Given the description of an element on the screen output the (x, y) to click on. 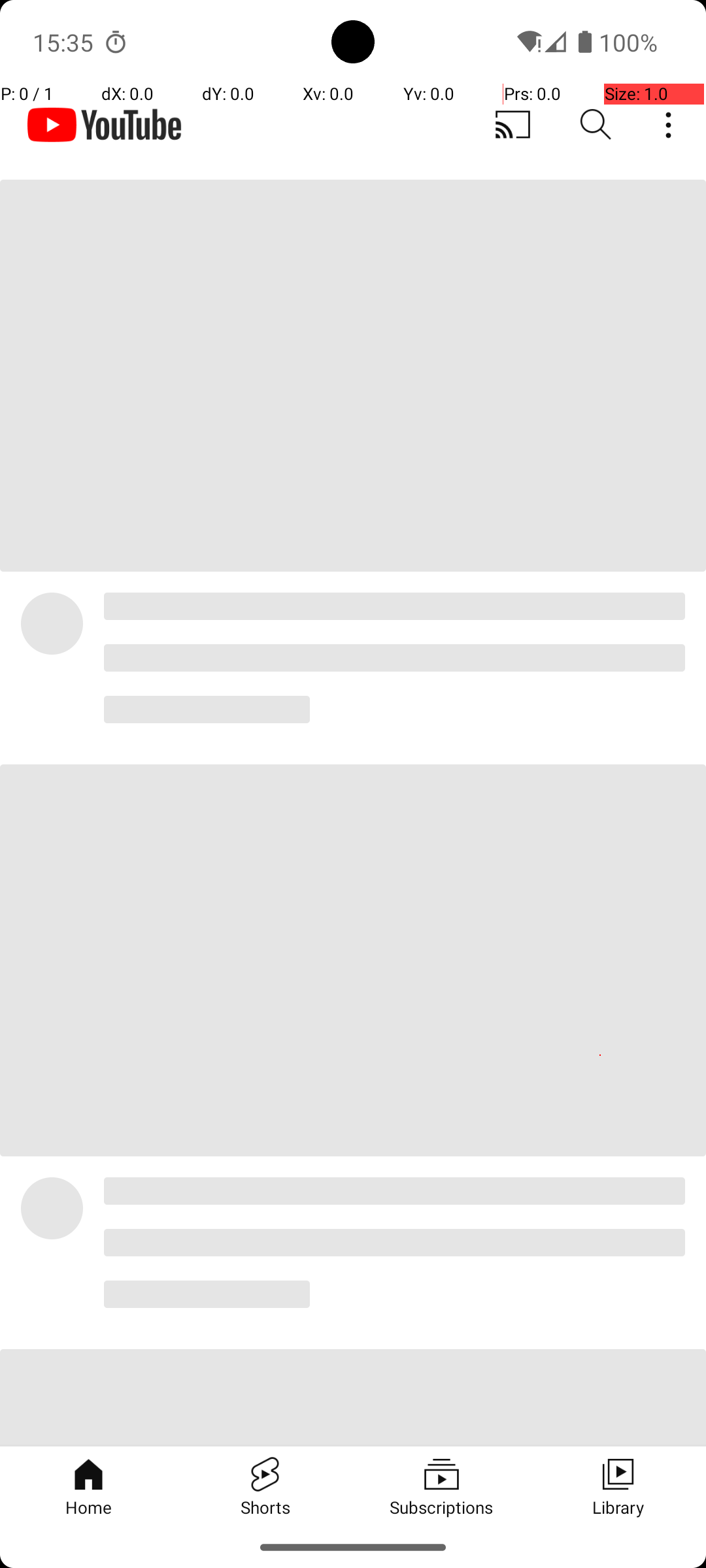
Cast. Disconnected Element type: android.view.View (512, 124)
Shorts Element type: android.widget.Button (264, 1485)
